Given the description of an element on the screen output the (x, y) to click on. 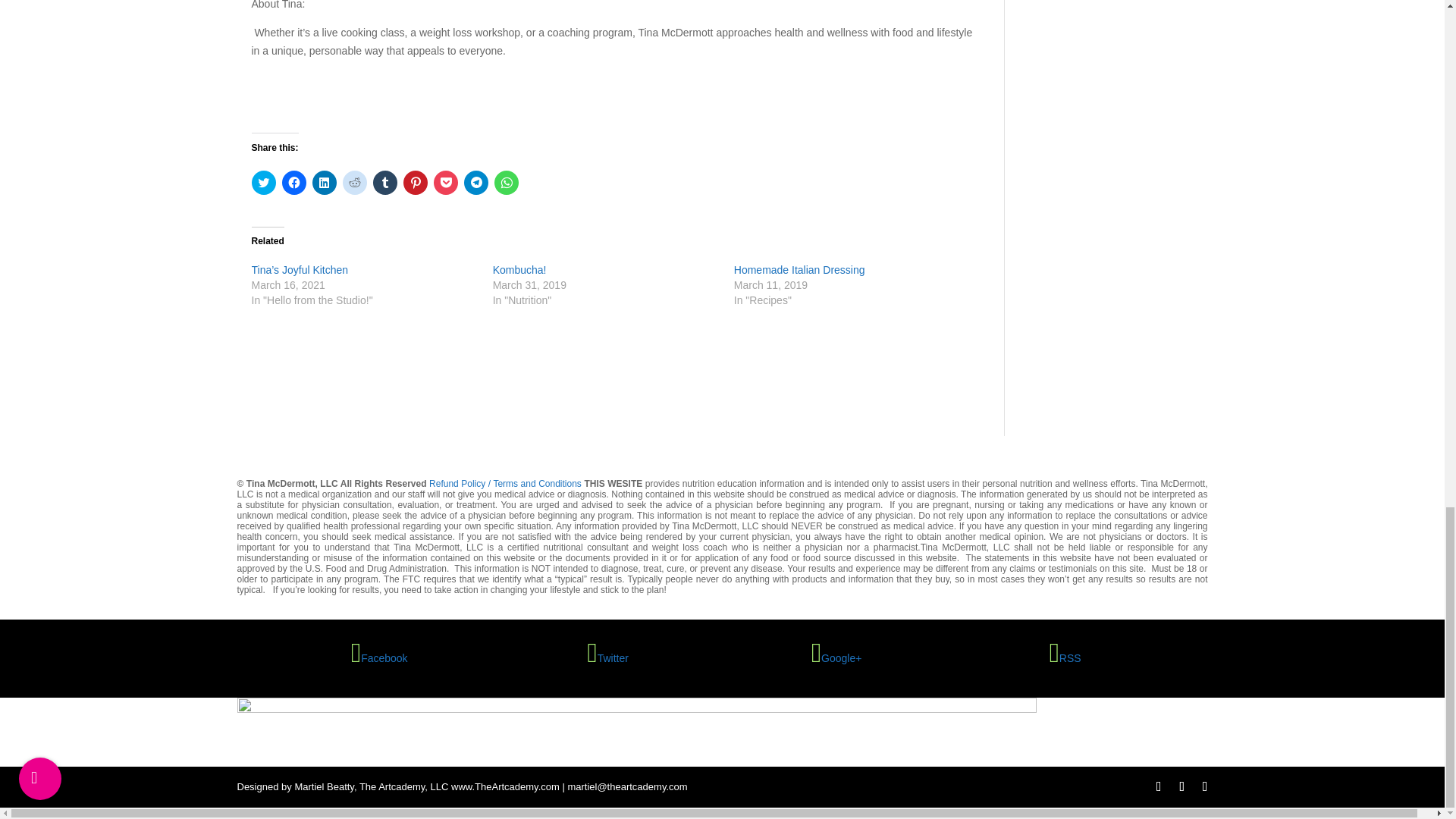
Homemade Italian Dressing (798, 269)
Click to share on Pocket (445, 182)
Kombucha! (520, 269)
Click to share on WhatsApp (506, 182)
RSS (1065, 657)
Click to share on Tumblr (384, 182)
Click to share on Reddit (354, 182)
Twitter (608, 657)
Click to share on Pinterest (415, 182)
Click to share on Telegram (475, 182)
Click to share on LinkedIn (324, 182)
Click to share on Twitter (263, 182)
Facebook (378, 657)
Click to share on Facebook (293, 182)
